Given the description of an element on the screen output the (x, y) to click on. 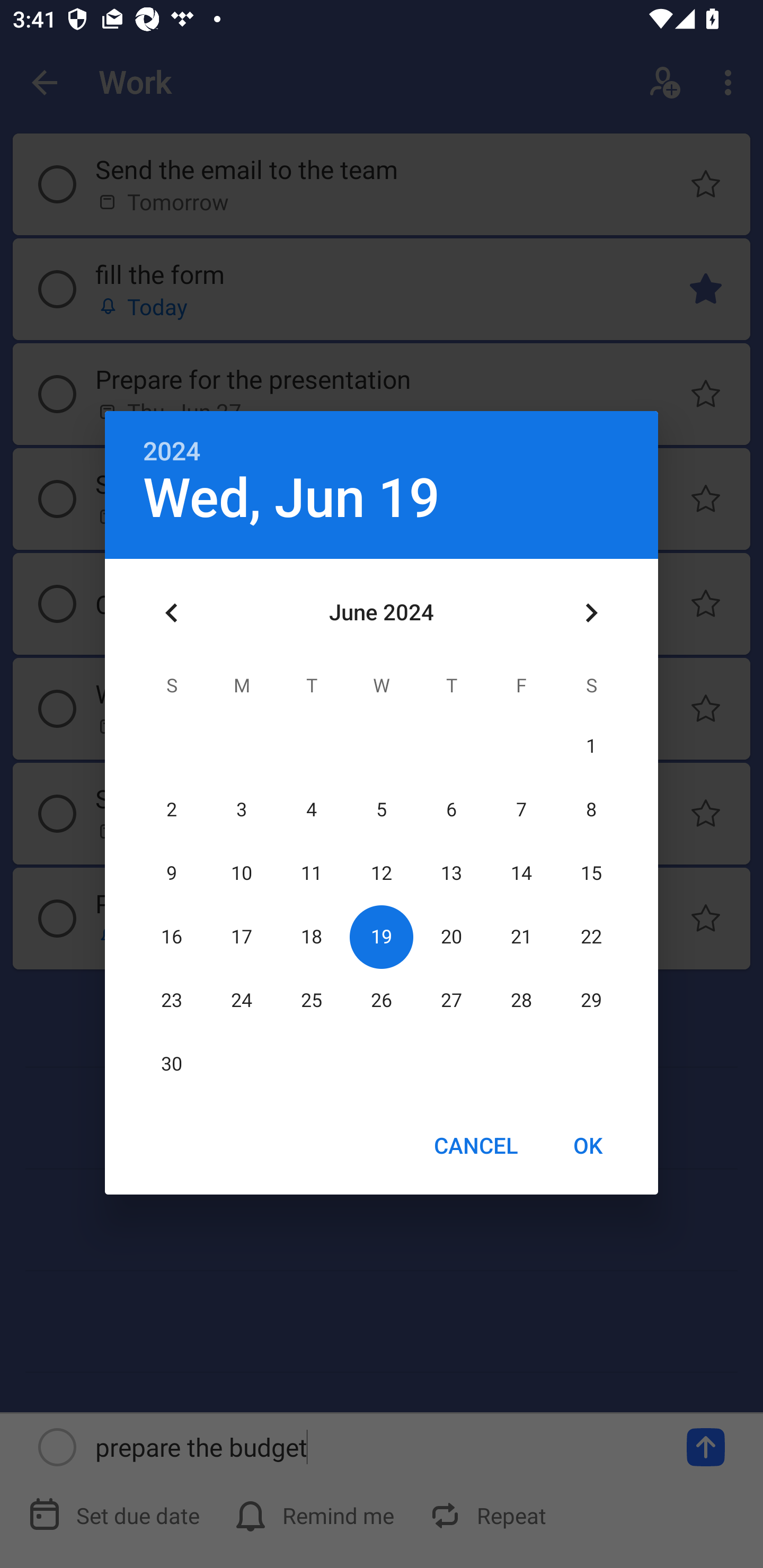
28 28 June 2024 (521, 1000)
